Given the description of an element on the screen output the (x, y) to click on. 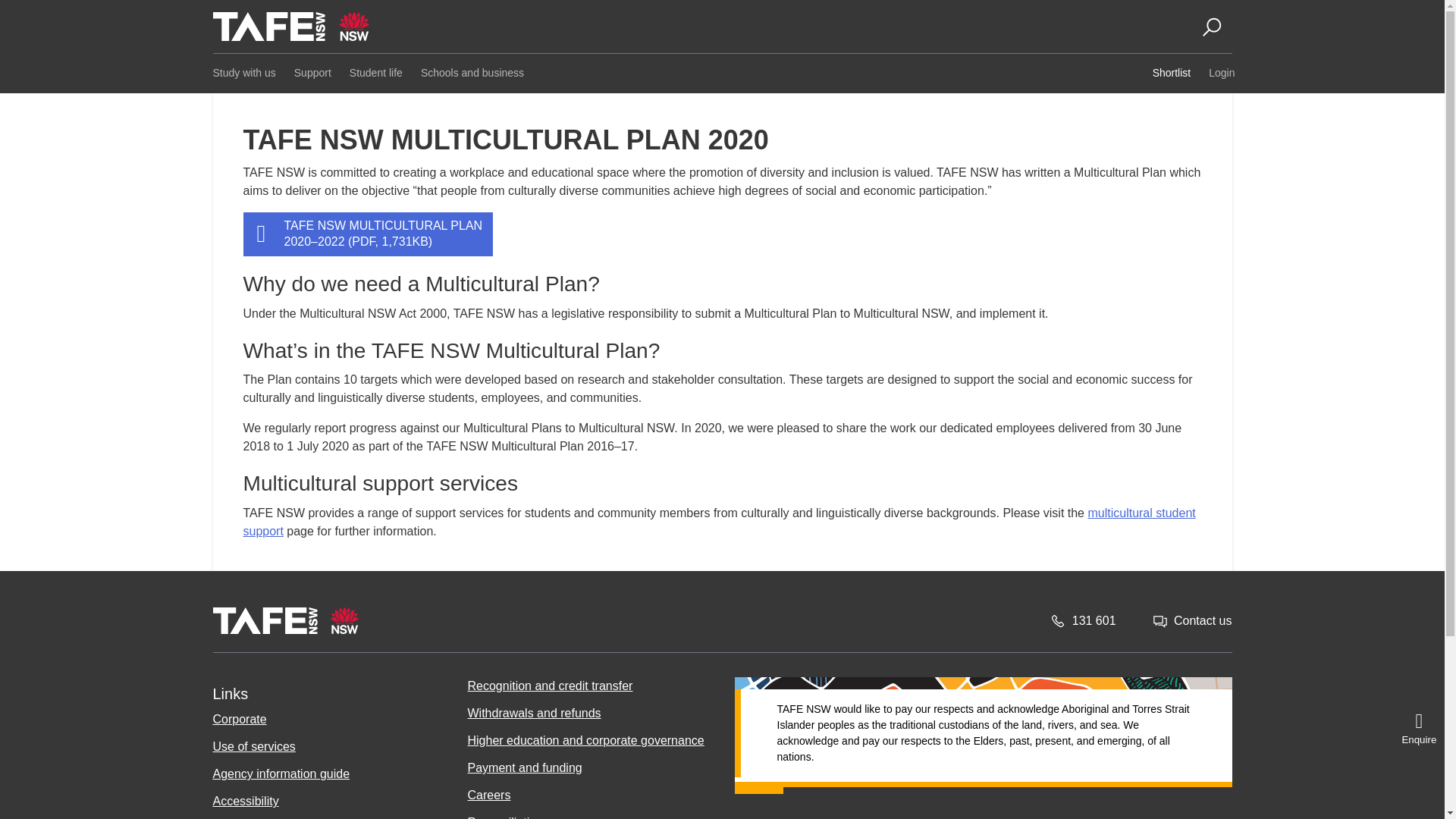
Multicultural Student Support Services (719, 521)
Study with us (241, 73)
TAFE NSW Home (285, 620)
